Given the description of an element on the screen output the (x, y) to click on. 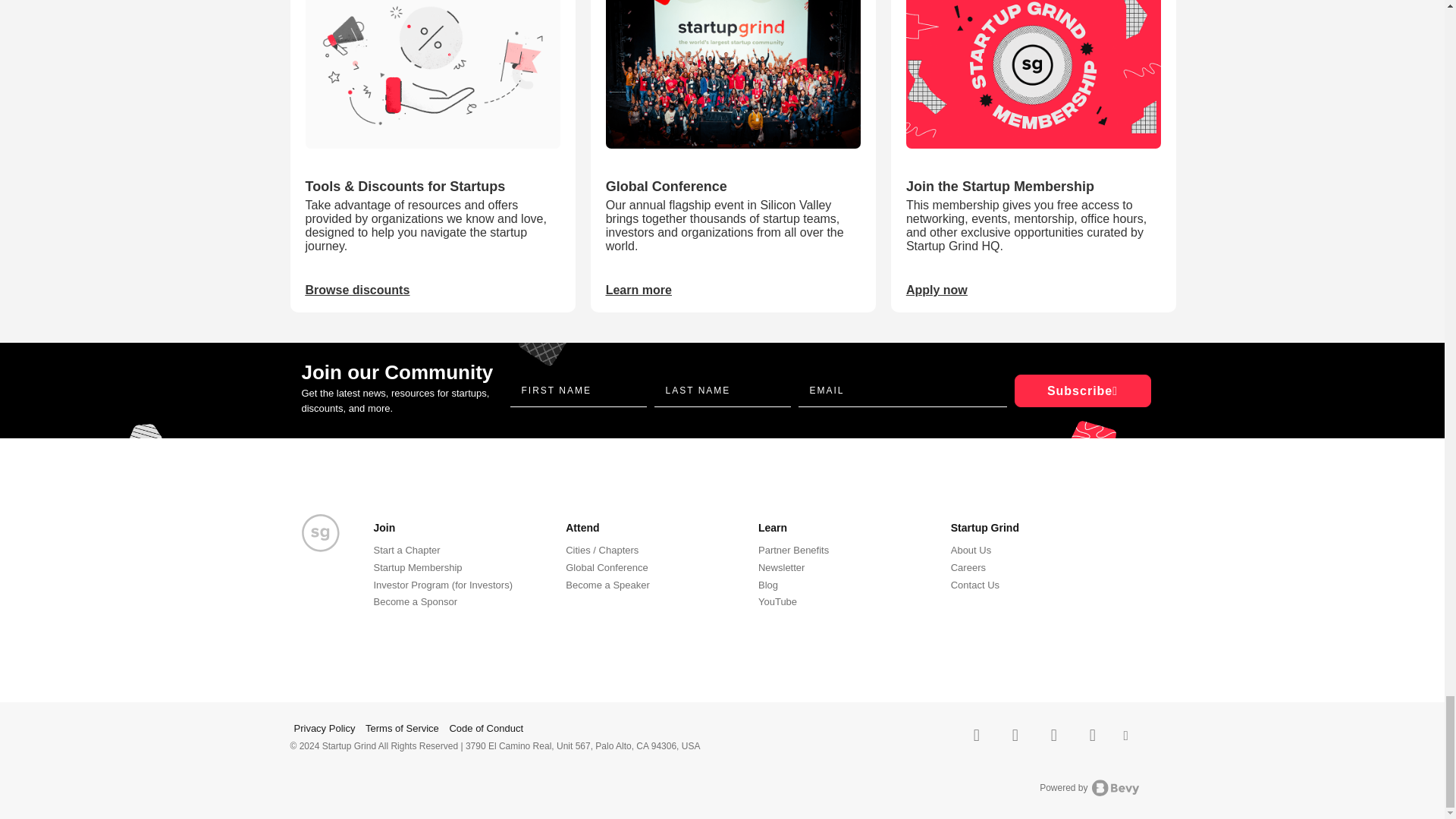
X (976, 734)
